Given the description of an element on the screen output the (x, y) to click on. 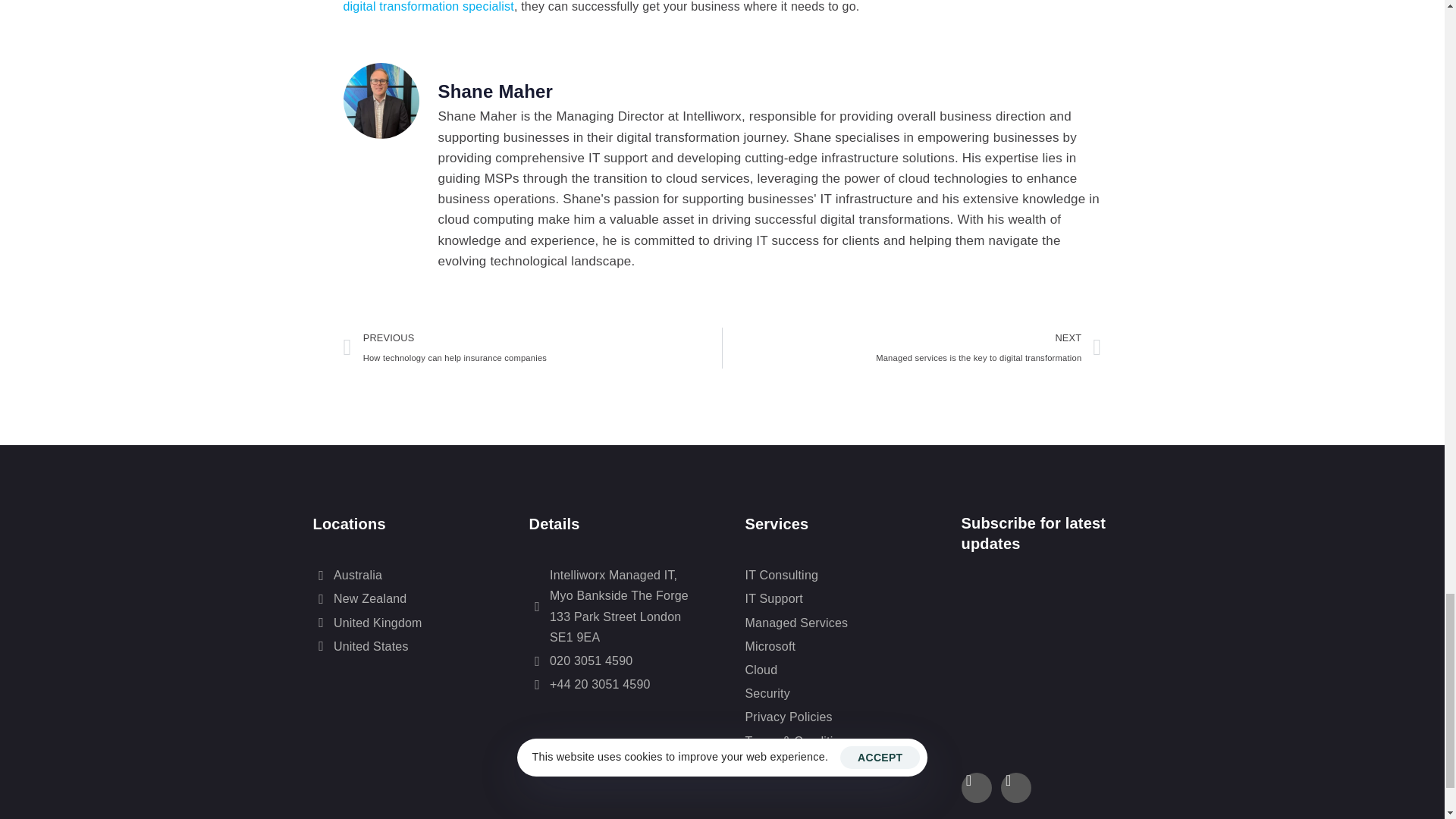
Form 0 (1046, 655)
